Given the description of an element on the screen output the (x, y) to click on. 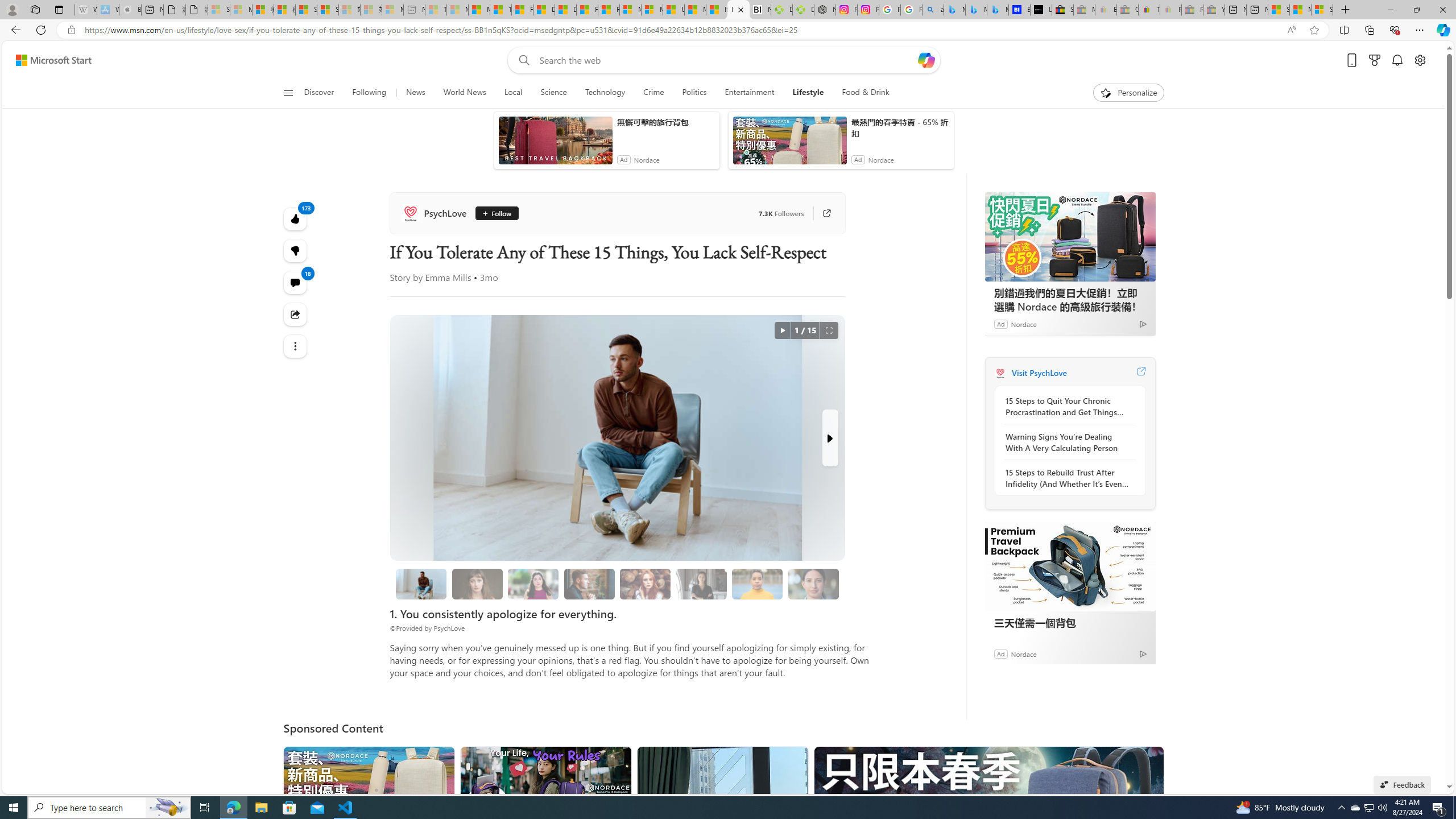
Microsoft Bing Travel - Flights from Hong Kong to Bangkok (954, 9)
Politics (694, 92)
Science (553, 92)
Open settings (1420, 60)
Open navigation menu (287, 92)
8. Surround yourself with solution-oriented people. (700, 583)
Top Stories - MSN - Sleeping (435, 9)
Full screen (828, 330)
Class: button-glyph (287, 92)
